Given the description of an element on the screen output the (x, y) to click on. 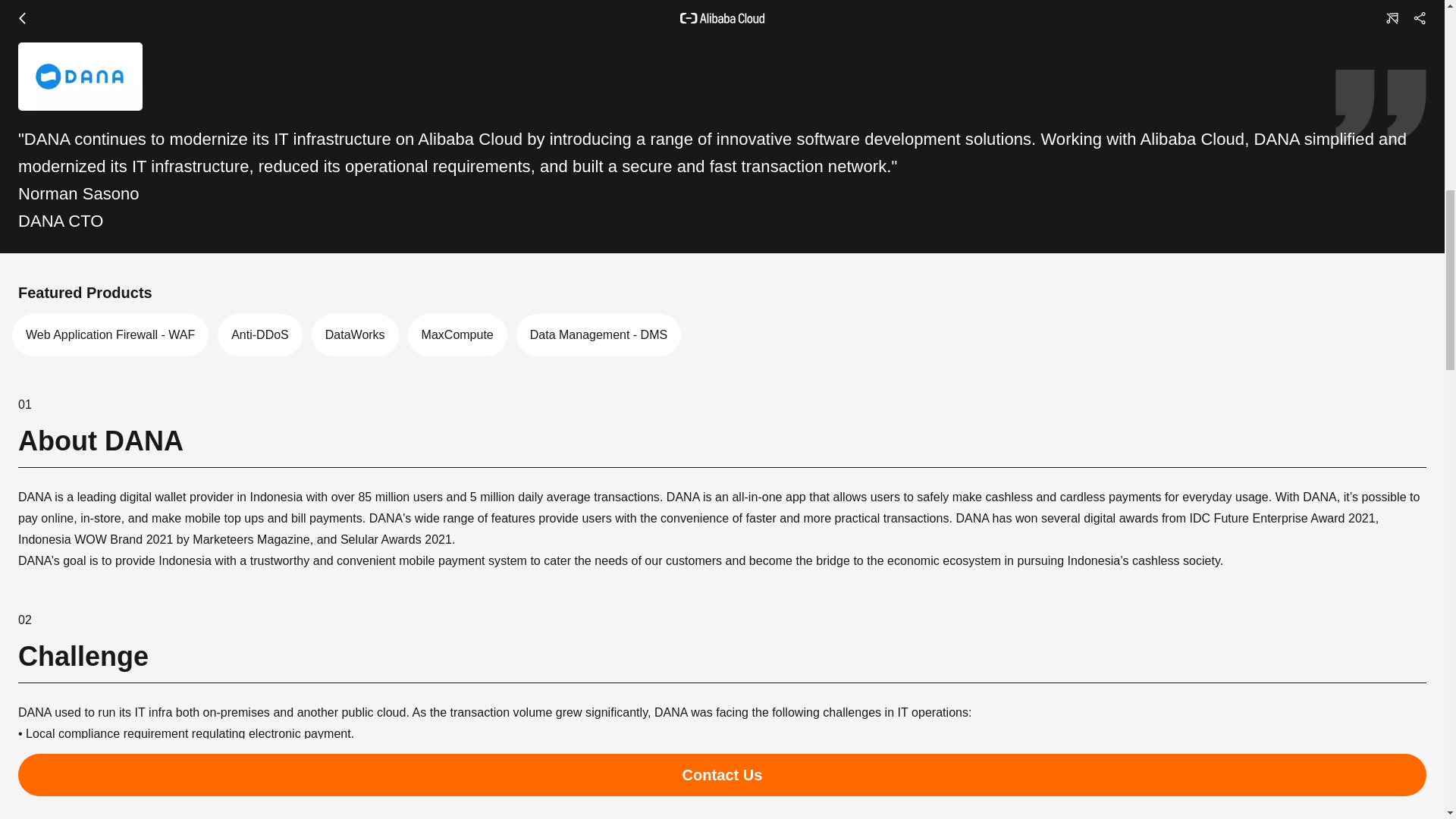
Web Application Firewall - WAF (109, 334)
Anti-DDoS (259, 334)
Data Management - DMS (598, 334)
DataWorks (354, 334)
MaxCompute (456, 334)
